Given the description of an element on the screen output the (x, y) to click on. 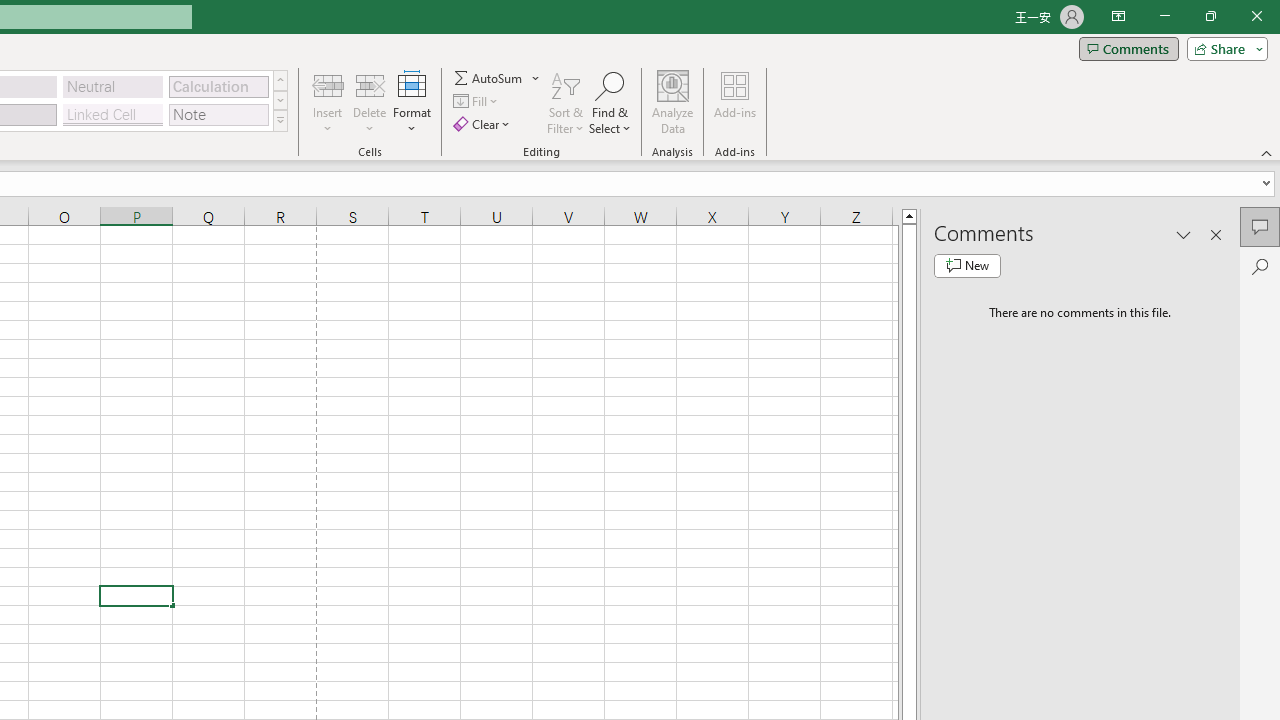
New comment (967, 265)
Delete Cells... (369, 84)
Sum (489, 78)
Calculation (218, 86)
AutoSum (497, 78)
Row Down (280, 100)
